Given the description of an element on the screen output the (x, y) to click on. 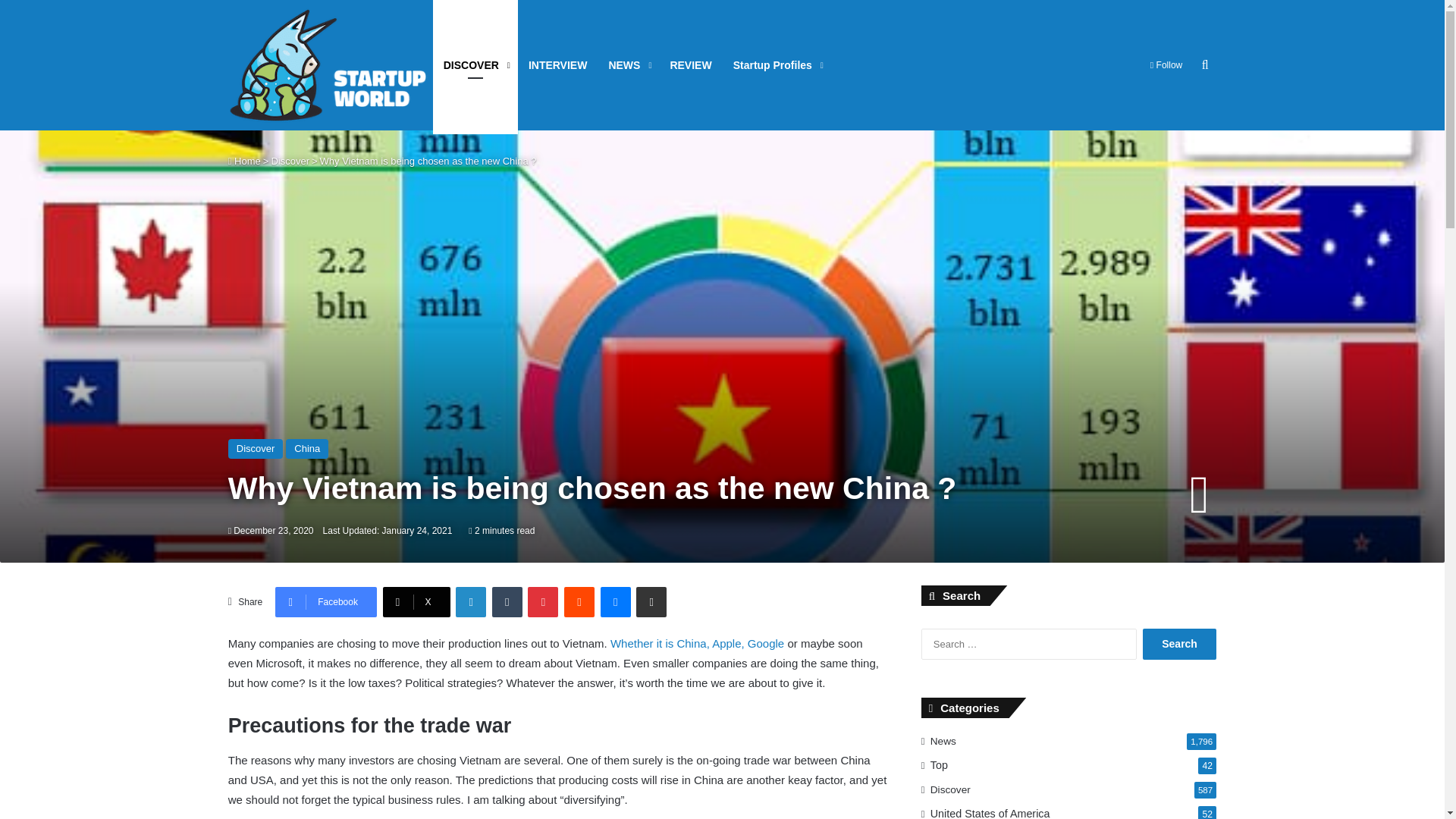
Reddit (579, 602)
Search (1178, 644)
Pinterest (542, 602)
Messenger (614, 602)
Facebook (326, 602)
Discover (289, 161)
Share via Email (651, 602)
X (415, 602)
Share via Email (651, 602)
X (415, 602)
Whether it is China, Apple, Google (697, 643)
Tumblr (507, 602)
Messenger (614, 602)
LinkedIn (470, 602)
LinkedIn (470, 602)
